Given the description of an element on the screen output the (x, y) to click on. 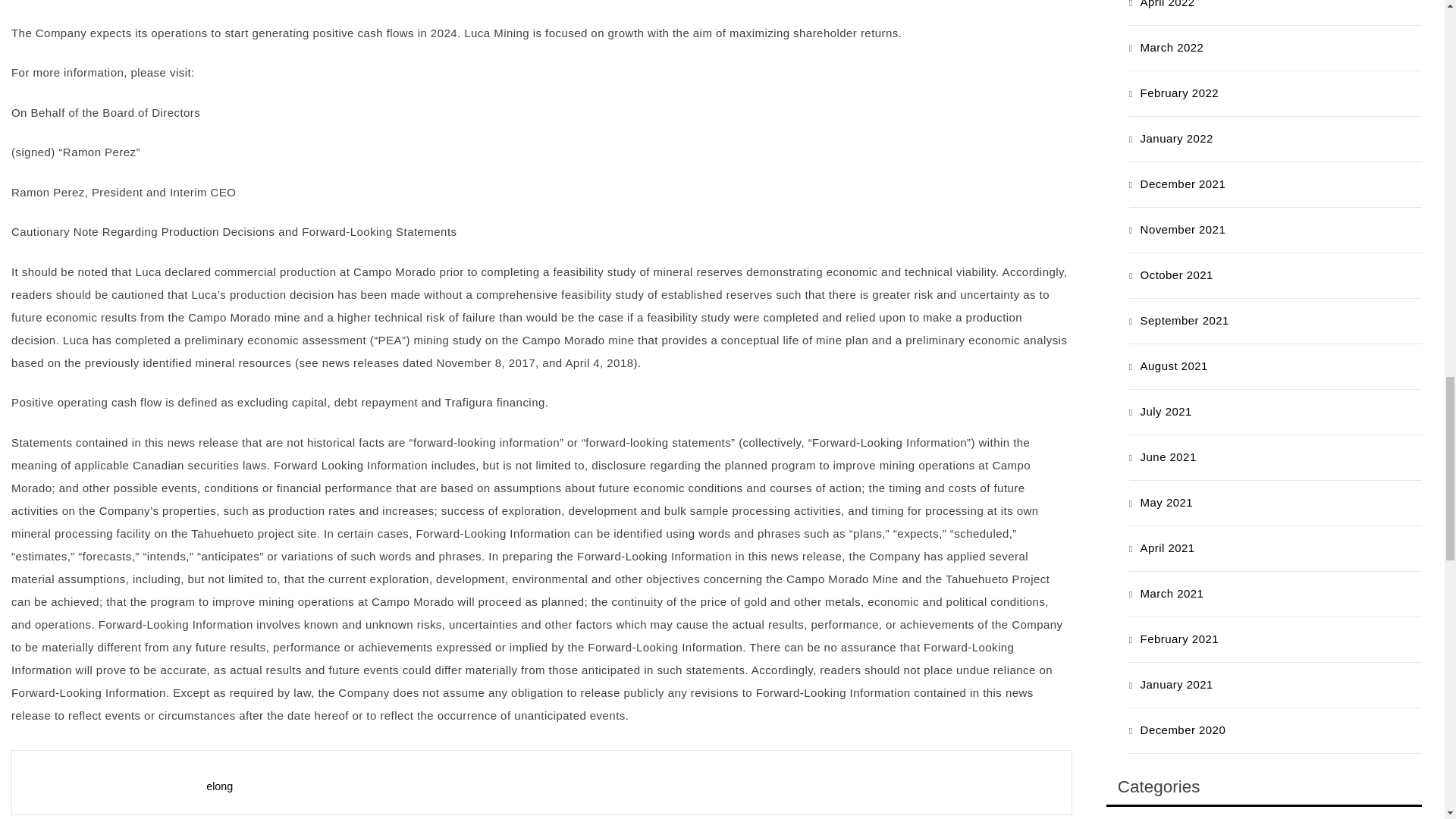
April 2022 (1167, 4)
March 2022 (1172, 47)
